Given the description of an element on the screen output the (x, y) to click on. 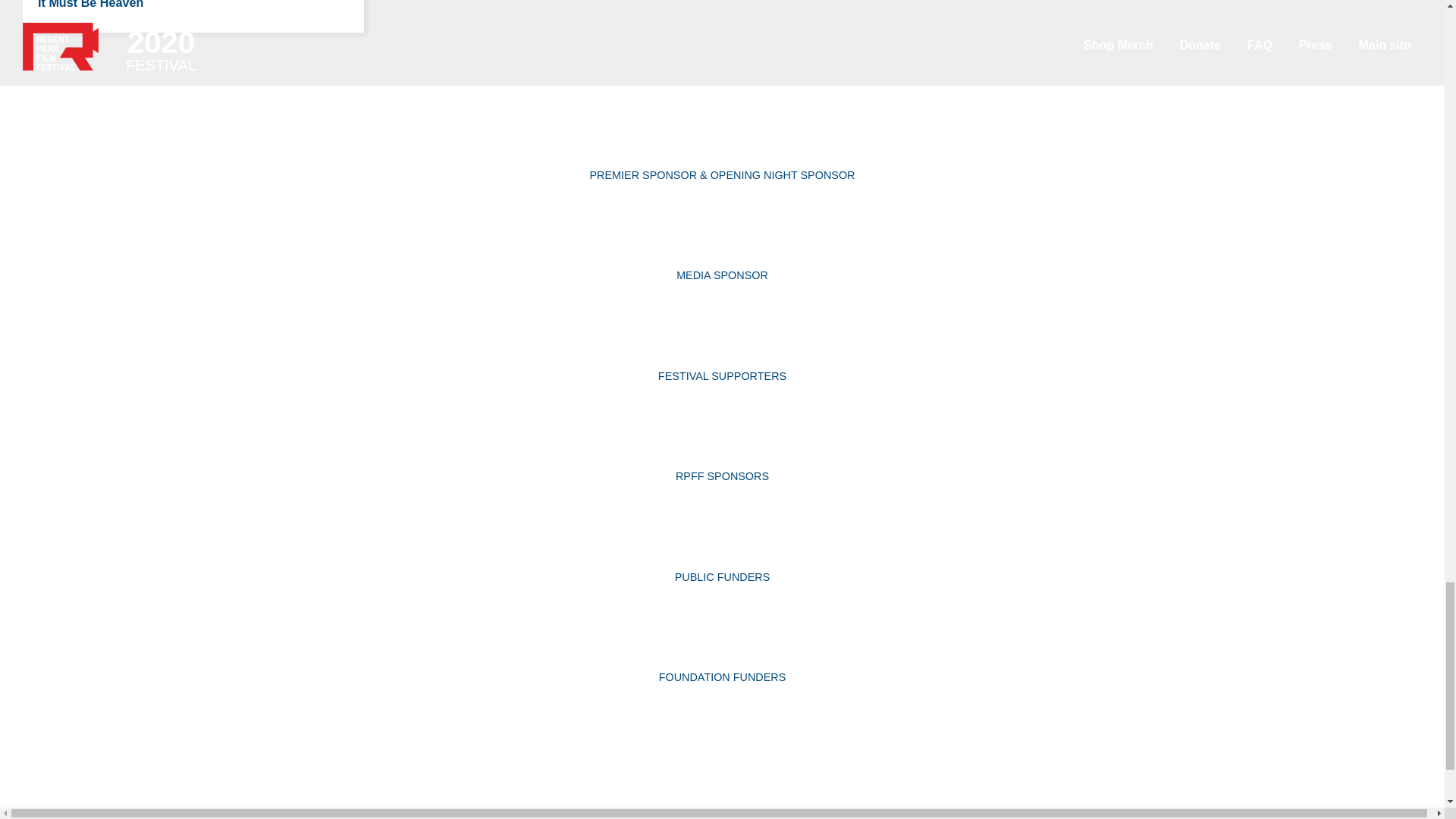
It Must Be Heaven (89, 4)
